Given the description of an element on the screen output the (x, y) to click on. 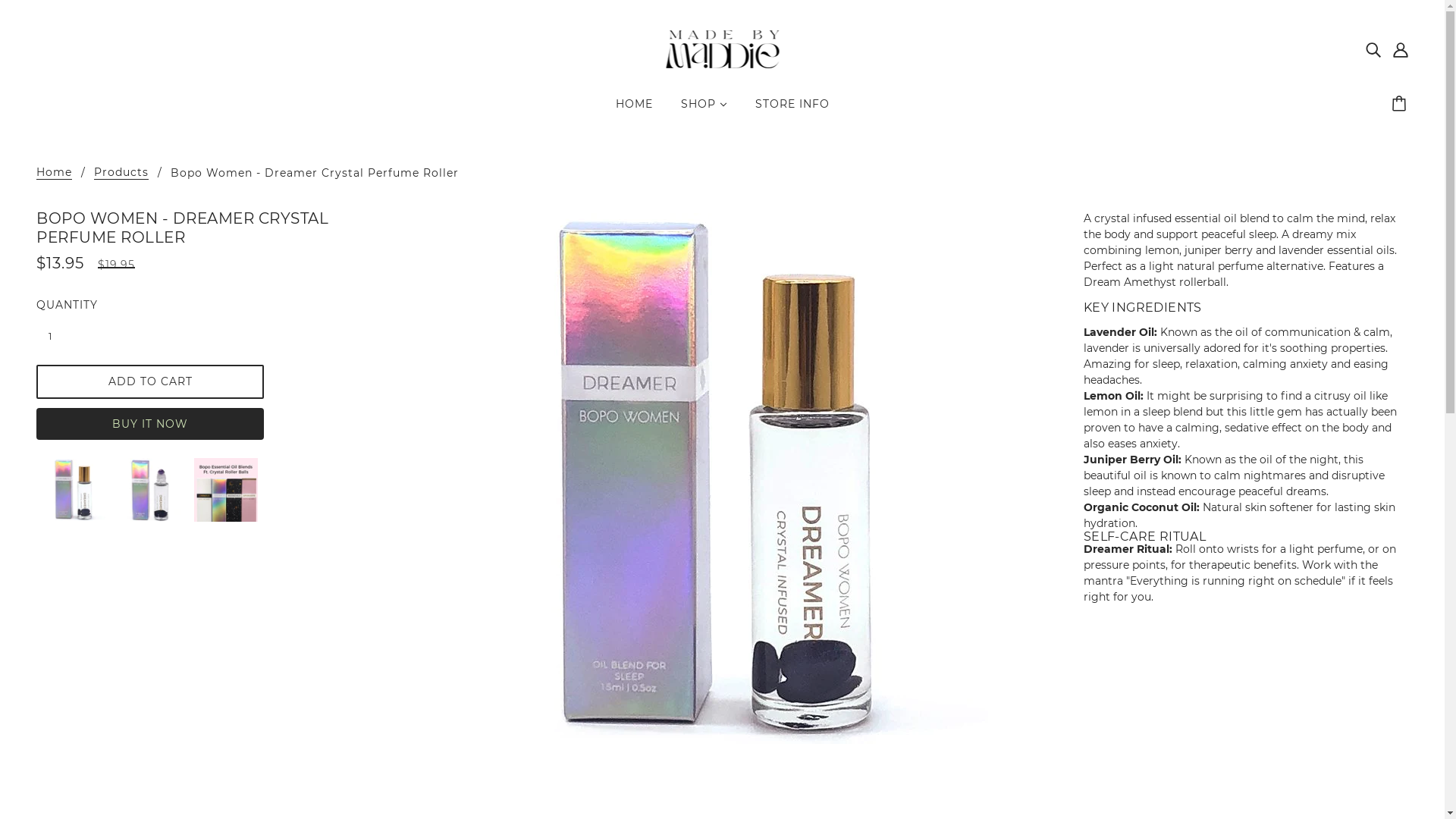
Made by Maddie Store Element type: hover (721, 48)
STORE INFO Element type: text (792, 109)
SHOP Element type: text (703, 109)
HOME Element type: text (634, 109)
BUY IT NOW Element type: text (149, 423)
Home Element type: text (54, 172)
ADD TO CART Element type: text (149, 381)
Products Element type: text (121, 172)
